Given the description of an element on the screen output the (x, y) to click on. 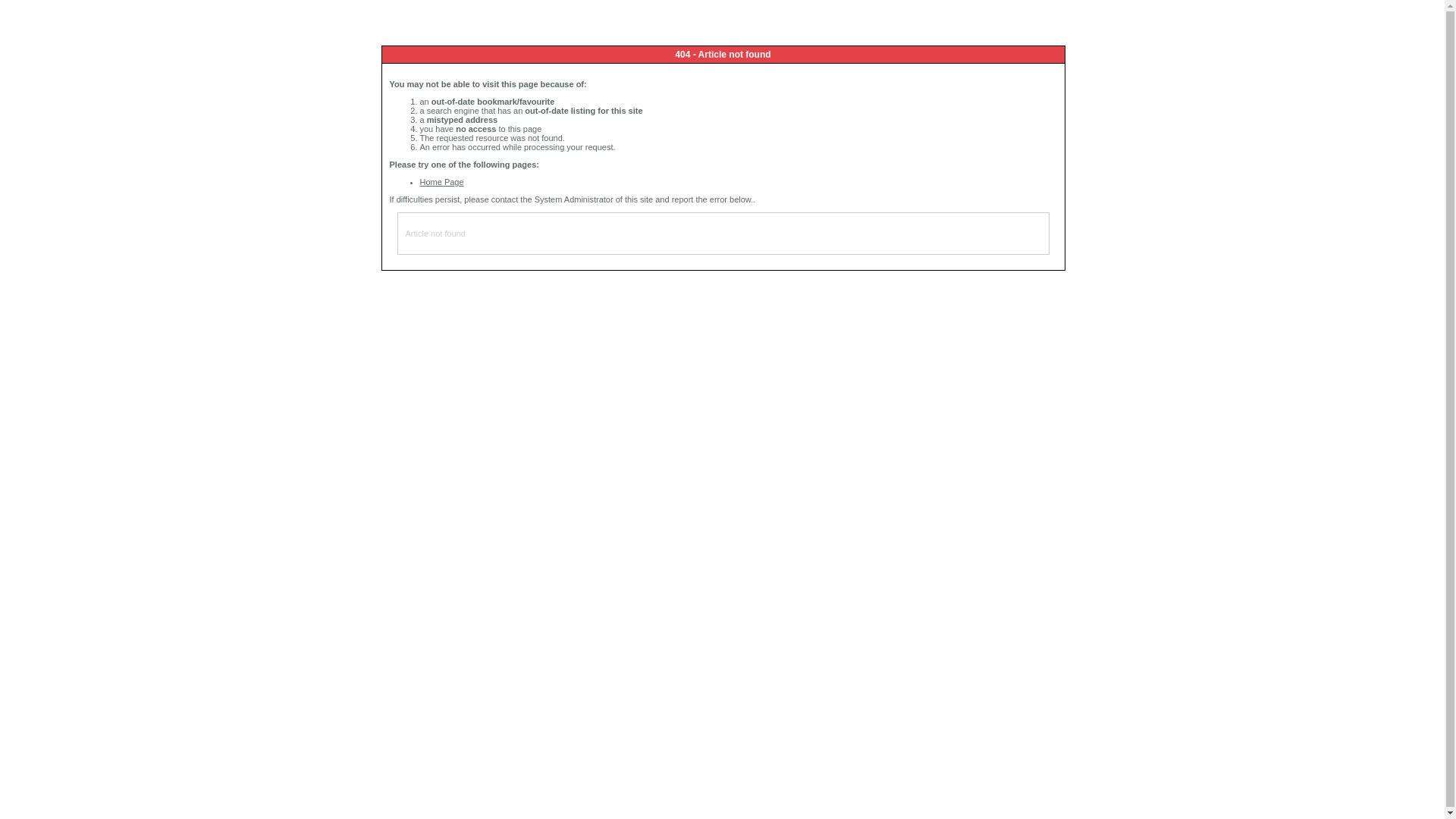
Home Page Element type: text (442, 181)
